Given the description of an element on the screen output the (x, y) to click on. 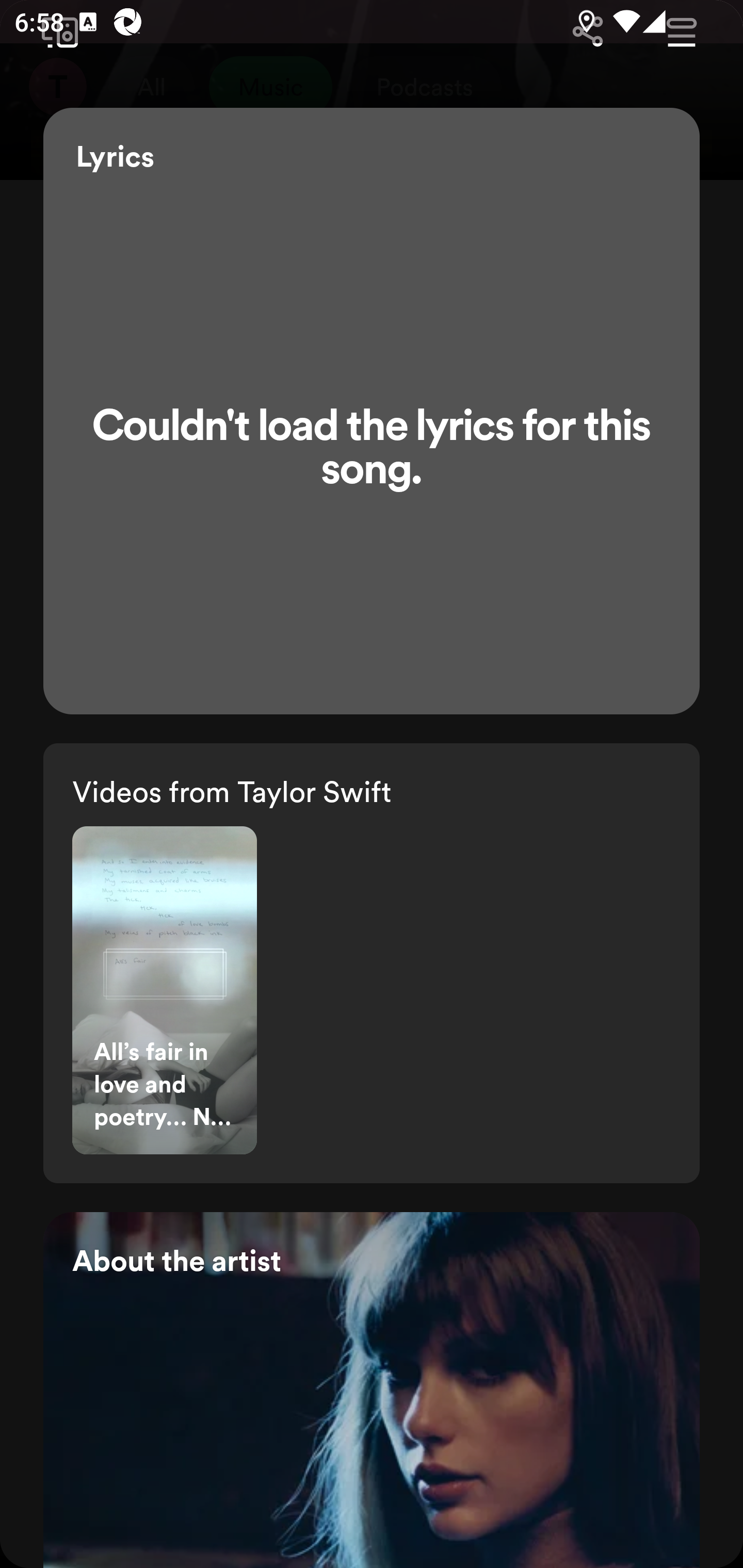
About the artist (371, 1390)
